Given the description of an element on the screen output the (x, y) to click on. 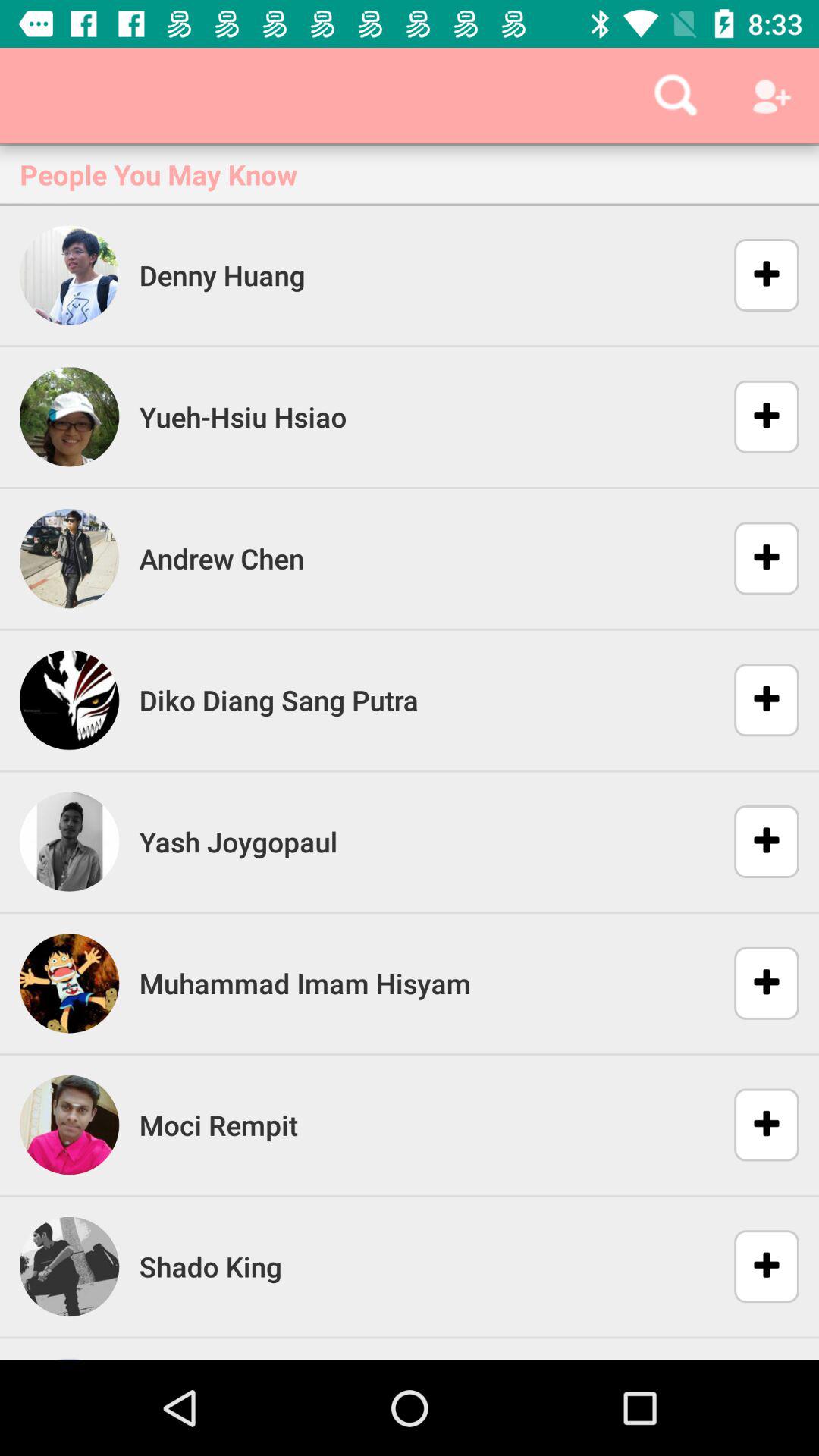
click on the second add button from the bottom of the page (756, 1125)
click on the image left to yuehhsiu hsiao (69, 417)
click on the image left to yash joygopaul (69, 842)
select the fifth plus button from top (756, 841)
click on plus button right to yuehhsiu hsiao (756, 416)
click on icon on the right side of andrew chen (756, 558)
